Given the description of an element on the screen output the (x, y) to click on. 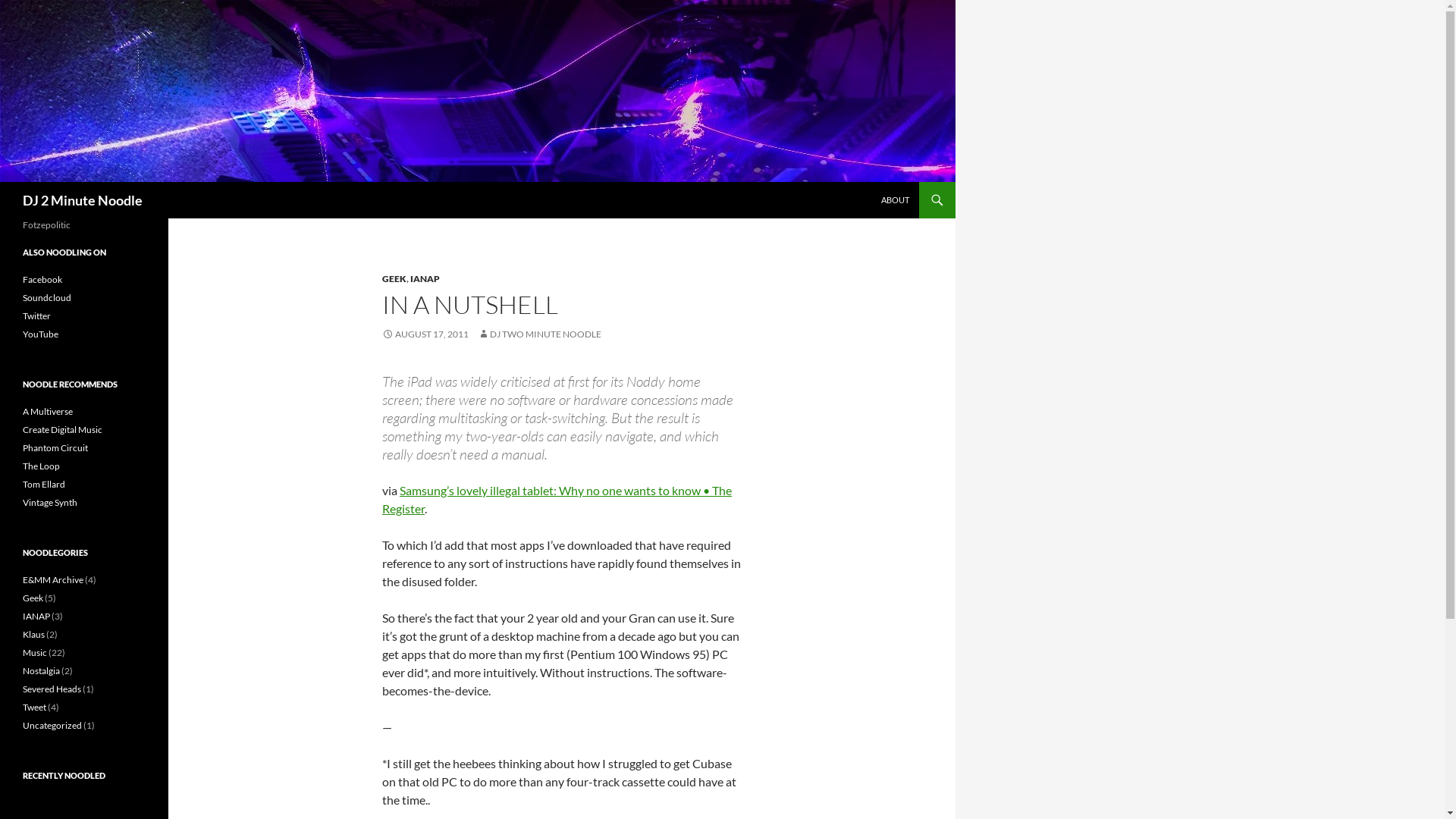
E&MM Archive Element type: text (52, 579)
Create Digital Music Element type: text (62, 429)
Twitter Element type: text (36, 315)
DJ 2 Minute Noodle Element type: text (82, 200)
YouTube Element type: text (40, 333)
GEEK Element type: text (394, 278)
Severed Heads Element type: text (51, 688)
Tom Ellard Element type: text (43, 483)
Uncategorized Element type: text (51, 725)
Facebook Element type: text (42, 279)
ABOUT Element type: text (895, 200)
Geek Element type: text (32, 597)
Tweet Element type: text (34, 706)
Nostalgia Element type: text (40, 670)
IANAP Element type: text (36, 615)
Soundcloud Element type: text (46, 297)
Vintage Synth Element type: text (49, 502)
Music Element type: text (34, 652)
DJ TWO MINUTE NOODLE Element type: text (539, 333)
IANAP Element type: text (424, 278)
AUGUST 17, 2011 Element type: text (425, 333)
The Loop Element type: text (40, 465)
Search Element type: text (3, 181)
Phantom Circuit Element type: text (54, 447)
A Multiverse Element type: text (47, 411)
Klaus Element type: text (33, 634)
SKIP TO CONTENT Element type: text (880, 181)
